Given the description of an element on the screen output the (x, y) to click on. 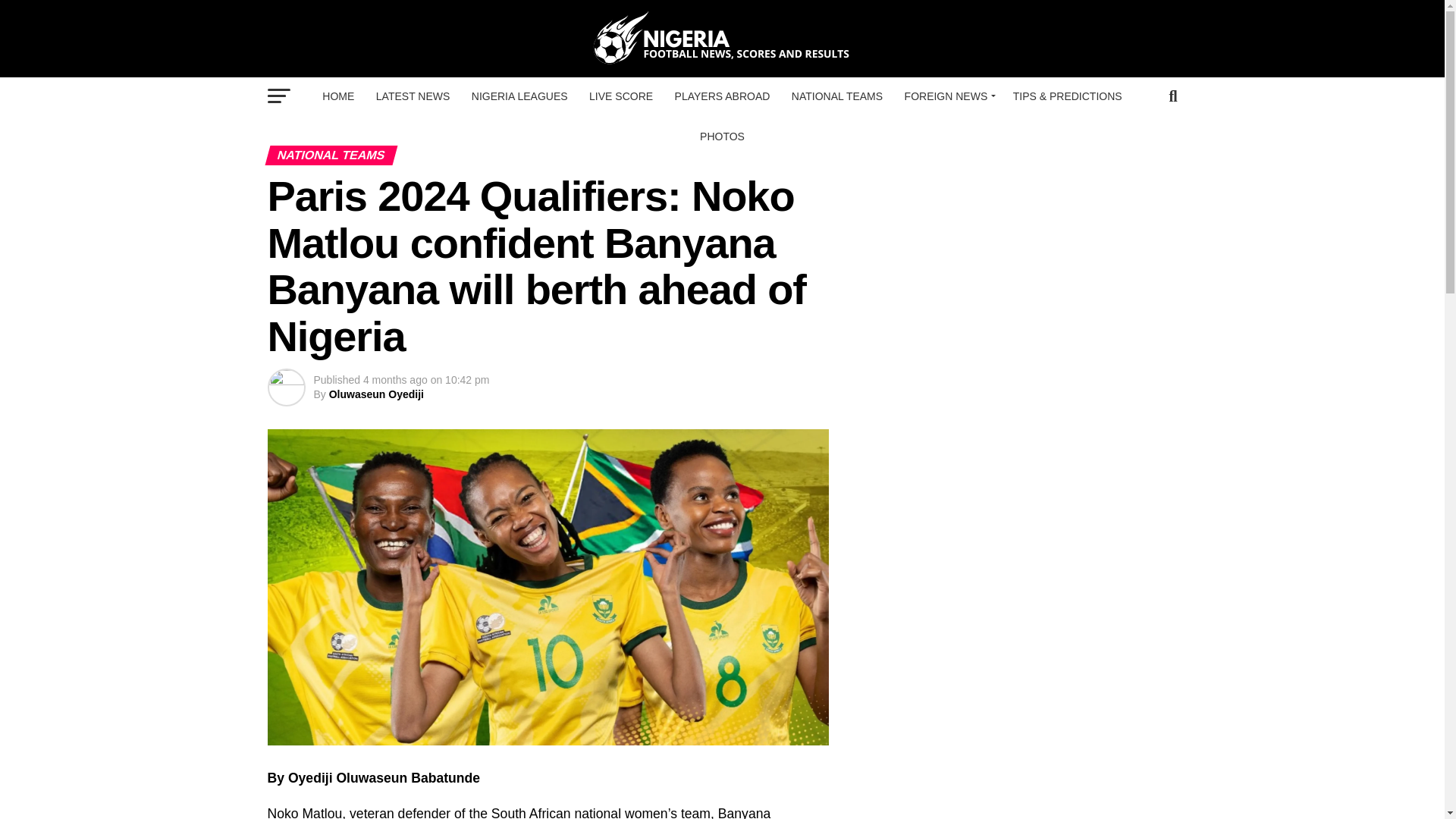
PLAYERS ABROAD (721, 95)
NIGERIA LEAGUES (519, 95)
HOME (337, 95)
NATIONAL TEAMS (837, 95)
LIVE SCORE (620, 95)
LATEST NEWS (413, 95)
